Given the description of an element on the screen output the (x, y) to click on. 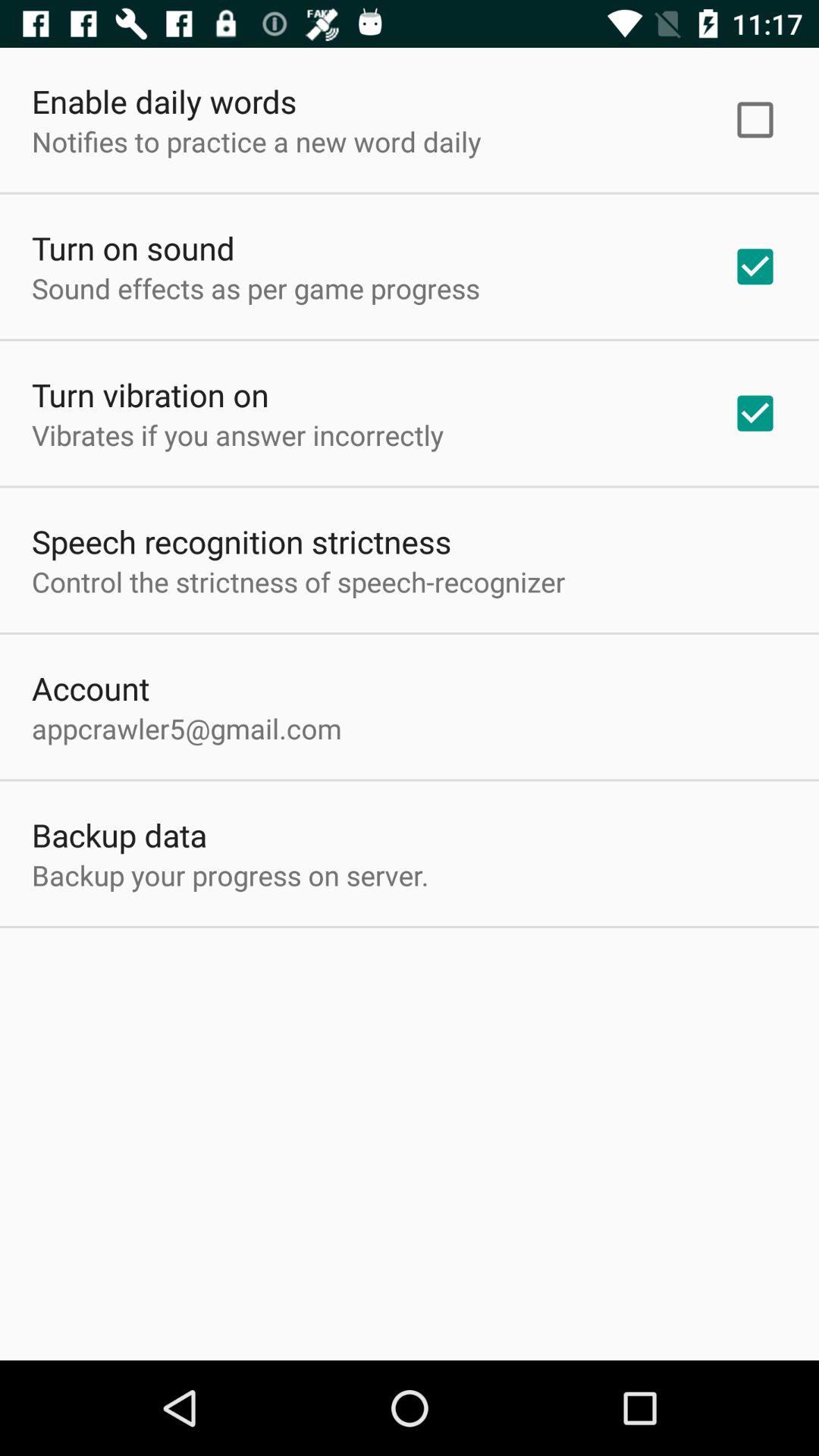
tap vibrates if you item (237, 434)
